Given the description of an element on the screen output the (x, y) to click on. 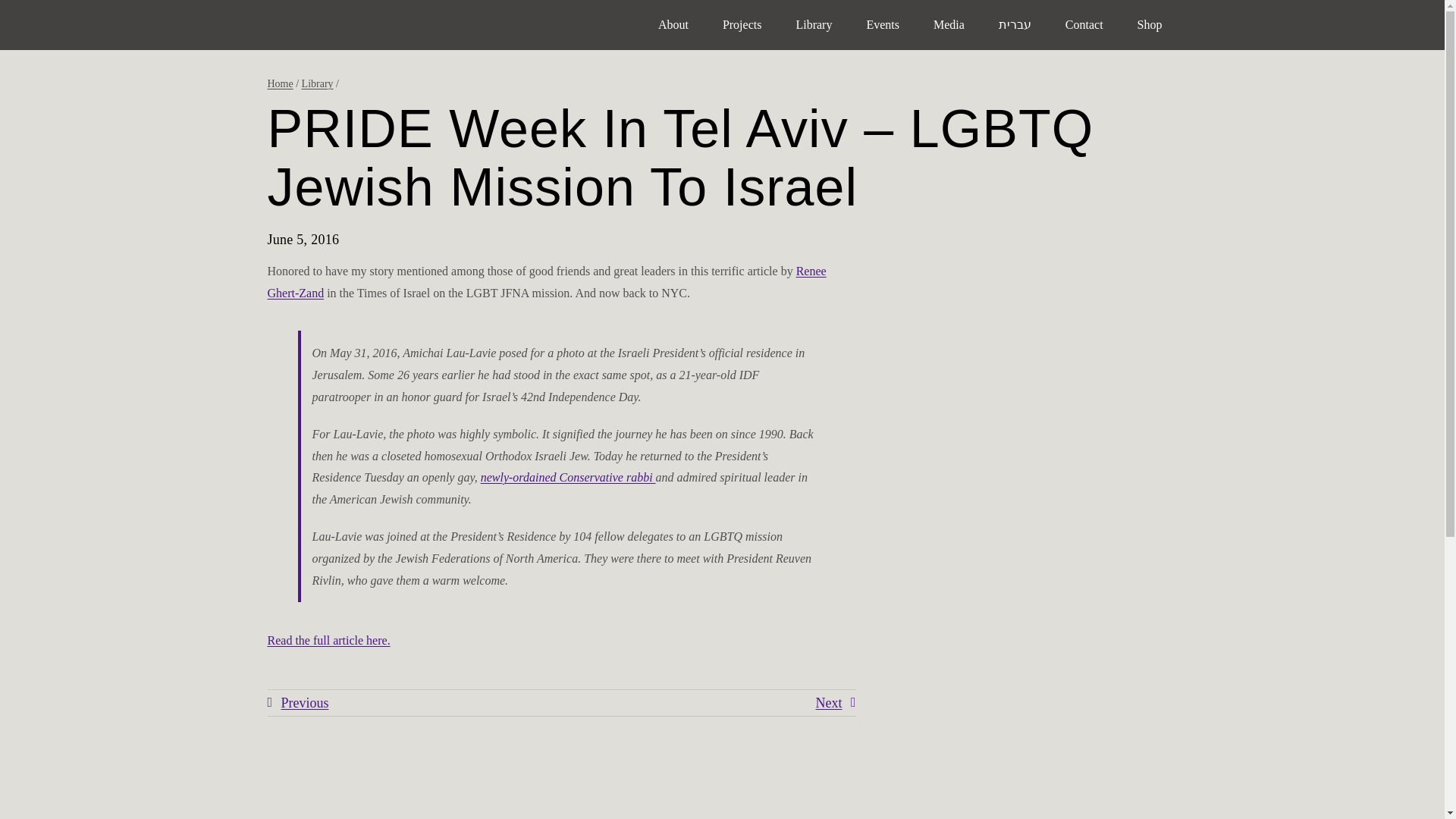
Renee Ghert-Zand (545, 281)
Library (813, 24)
Events (882, 24)
Media (948, 24)
Shop (1149, 24)
Next (835, 703)
About (673, 24)
Read the full article here. (328, 640)
Projects (742, 24)
Library (317, 83)
